Given the description of an element on the screen output the (x, y) to click on. 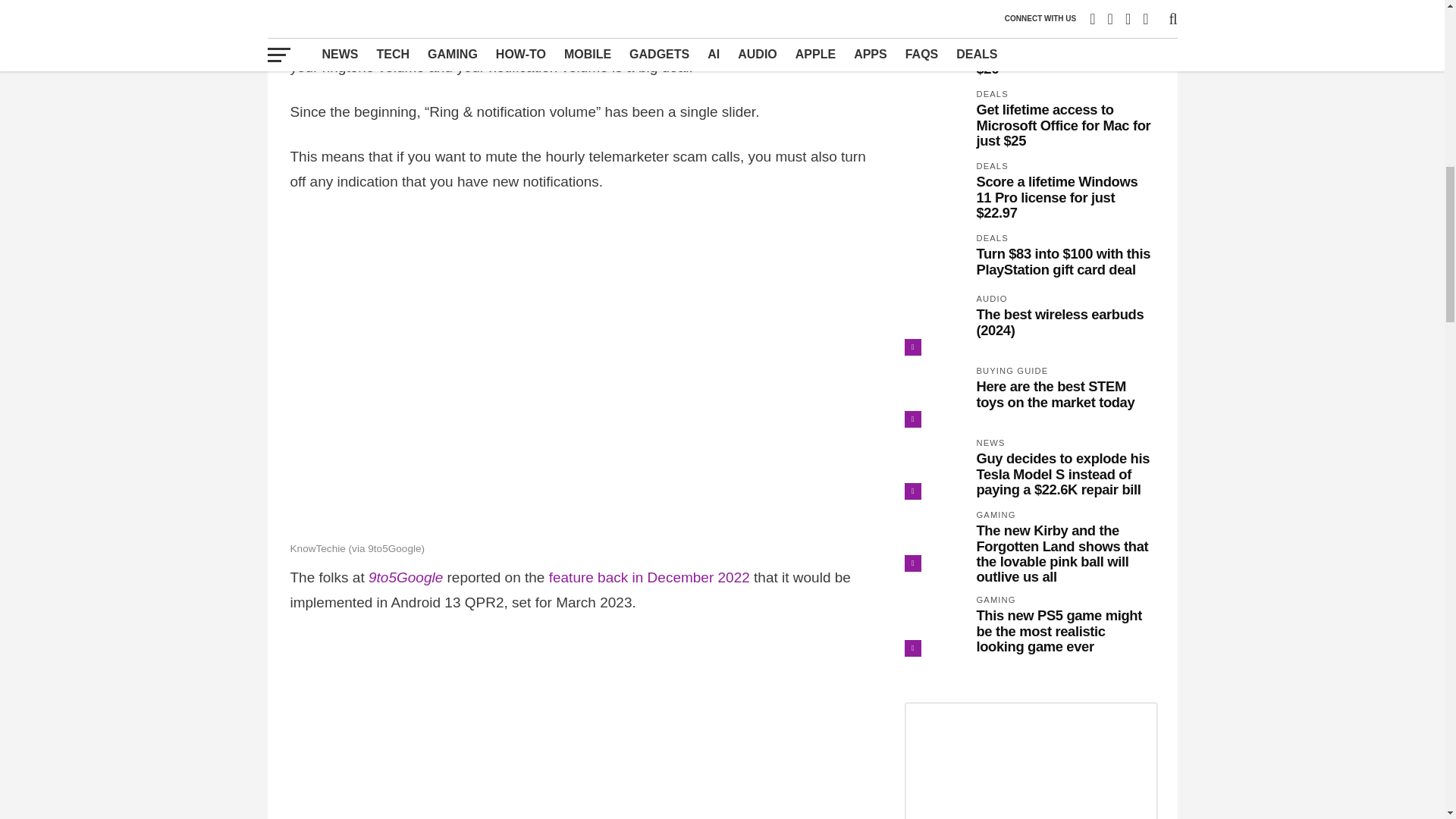
ringtone volume slider (663, 2)
